Given the description of an element on the screen output the (x, y) to click on. 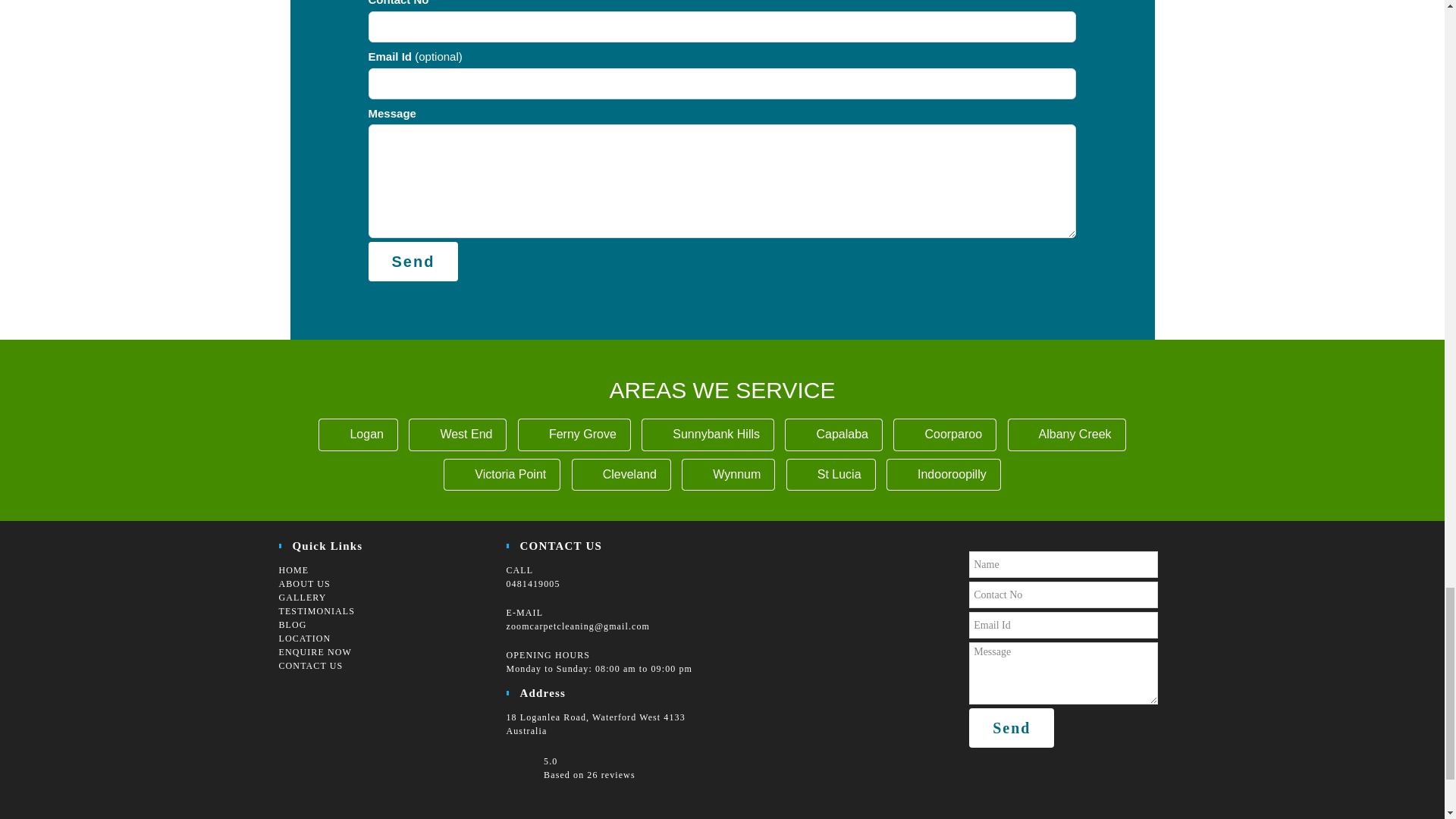
Visit Us On Facebook (290, 698)
Visit Us On Instagram (314, 698)
